Given the description of an element on the screen output the (x, y) to click on. 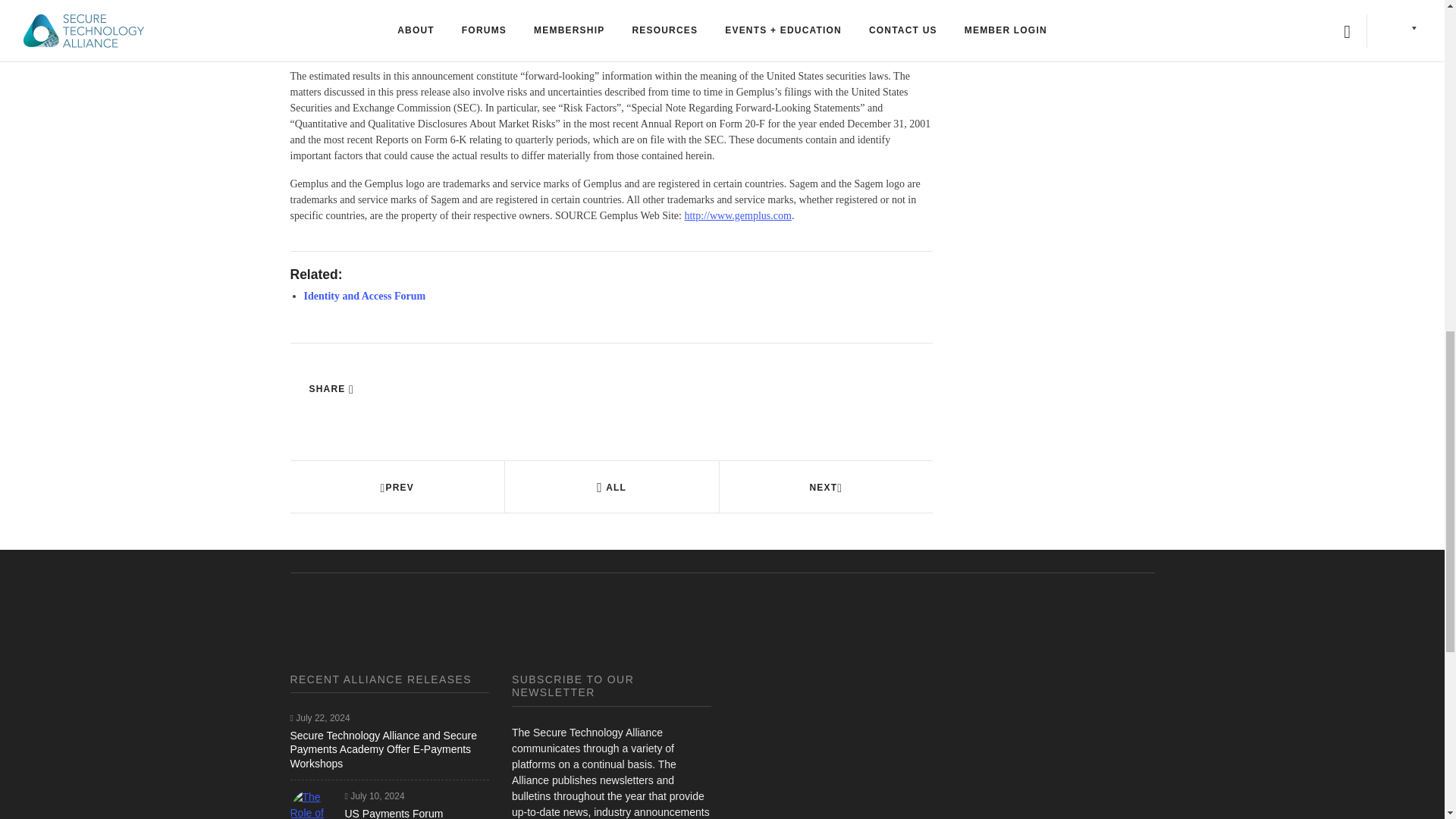
Identity and Access Forum (363, 296)
